Given the description of an element on the screen output the (x, y) to click on. 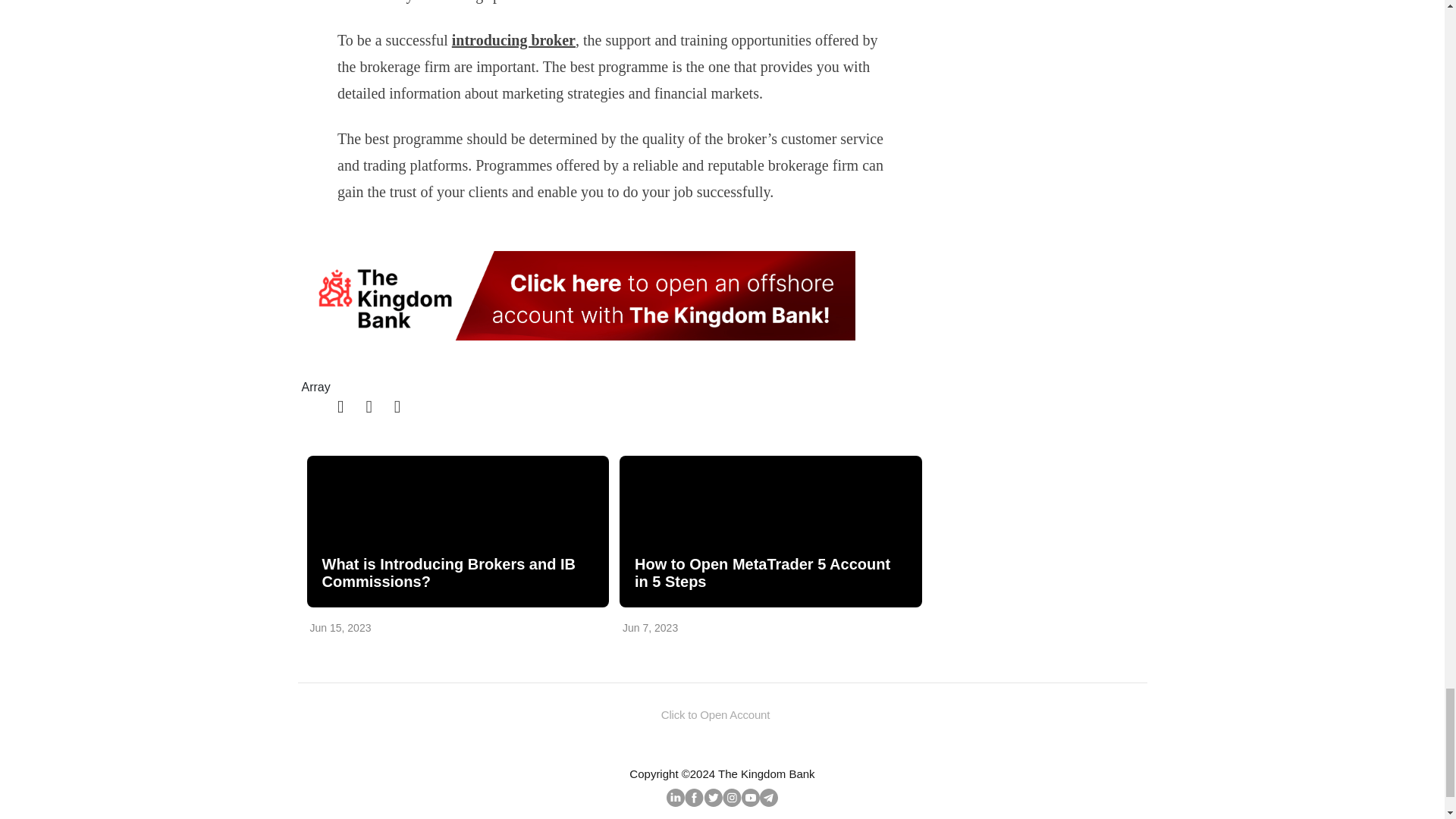
What is Introducing Brokers and IB Commissions? (456, 531)
How to Open MetaTrader 5 Account in 5 Steps (769, 573)
How to Open MetaTrader 5 Account in 5 Steps (770, 531)
What is Introducing Brokers and IB Commissions? (456, 573)
